Given the description of an element on the screen output the (x, y) to click on. 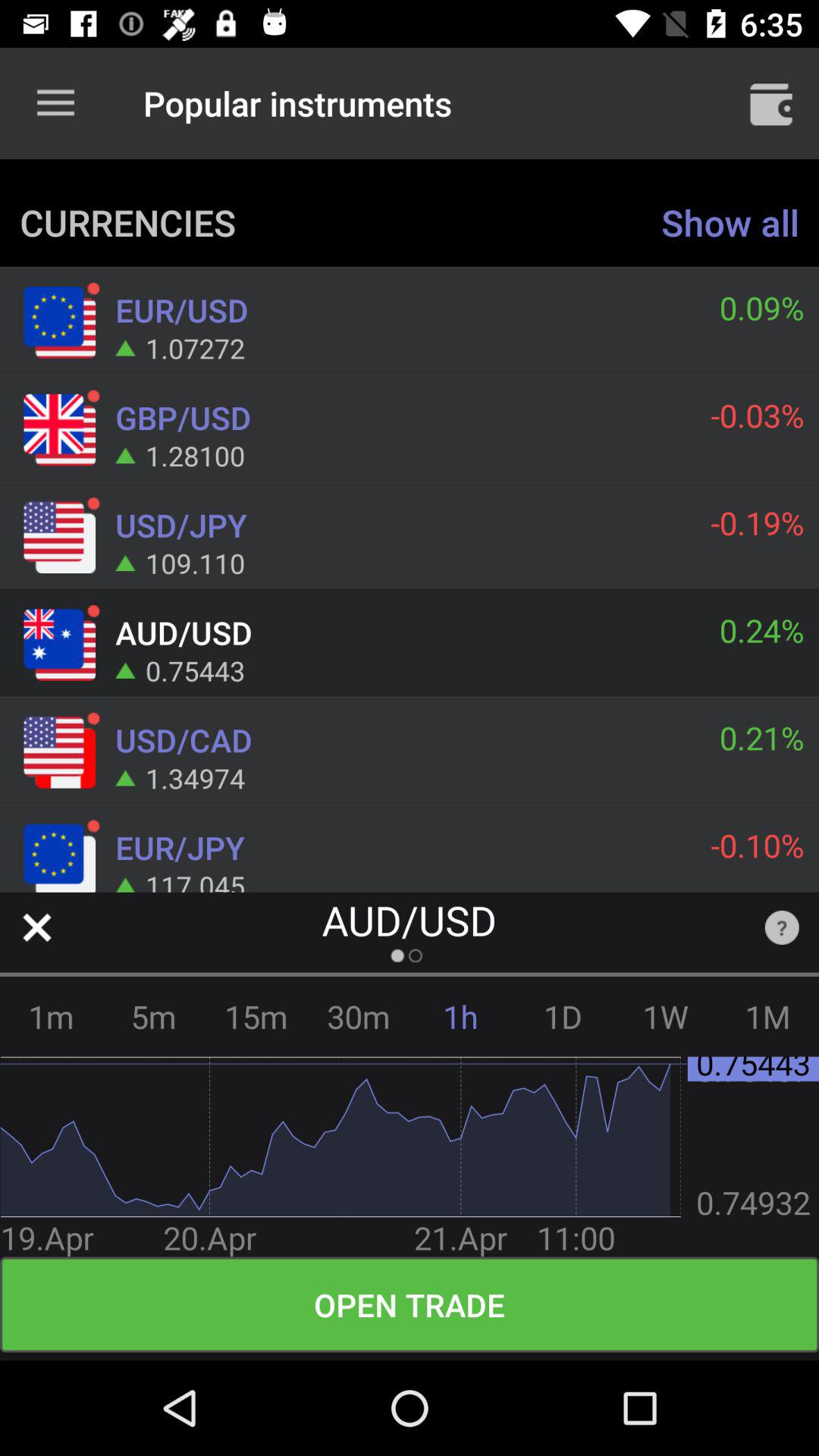
turn on icon above show all item (771, 103)
